Given the description of an element on the screen output the (x, y) to click on. 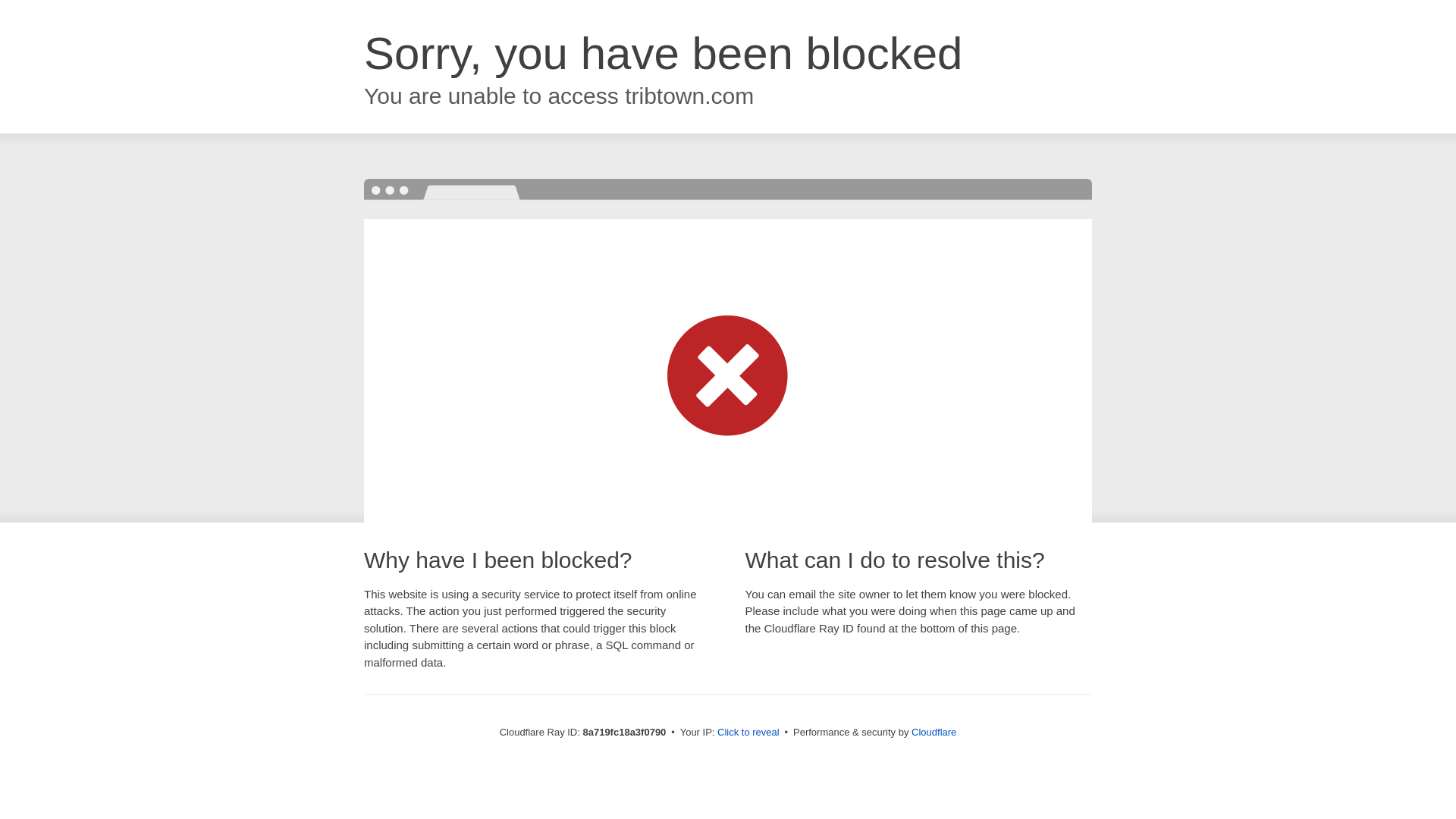
Click to reveal (747, 732)
Cloudflare (933, 731)
